Given the description of an element on the screen output the (x, y) to click on. 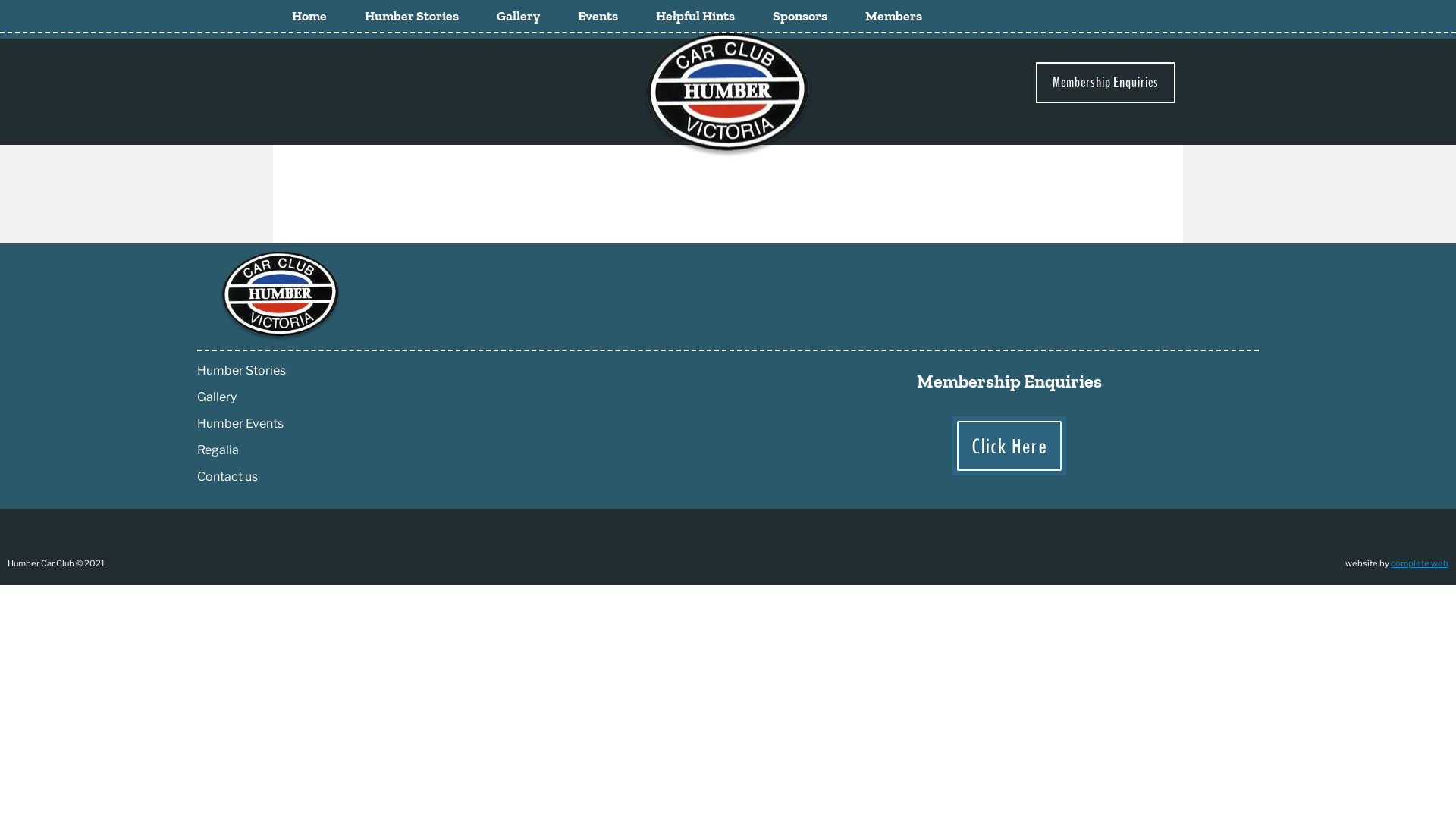
Humber Stories Element type: text (241, 370)
Sponsors Element type: text (799, 15)
Membership Enquiries Element type: text (1104, 82)
complete web Element type: text (1419, 563)
Regalia Element type: text (217, 449)
Gallery Element type: text (216, 396)
Contact us Element type: text (227, 476)
Events Element type: text (597, 15)
Helpful Hints Element type: text (695, 15)
Humber Stories Element type: text (411, 15)
Members Element type: text (893, 15)
Home Element type: text (309, 15)
Humber Events Element type: text (240, 423)
Gallery Element type: text (517, 15)
